Given the description of an element on the screen output the (x, y) to click on. 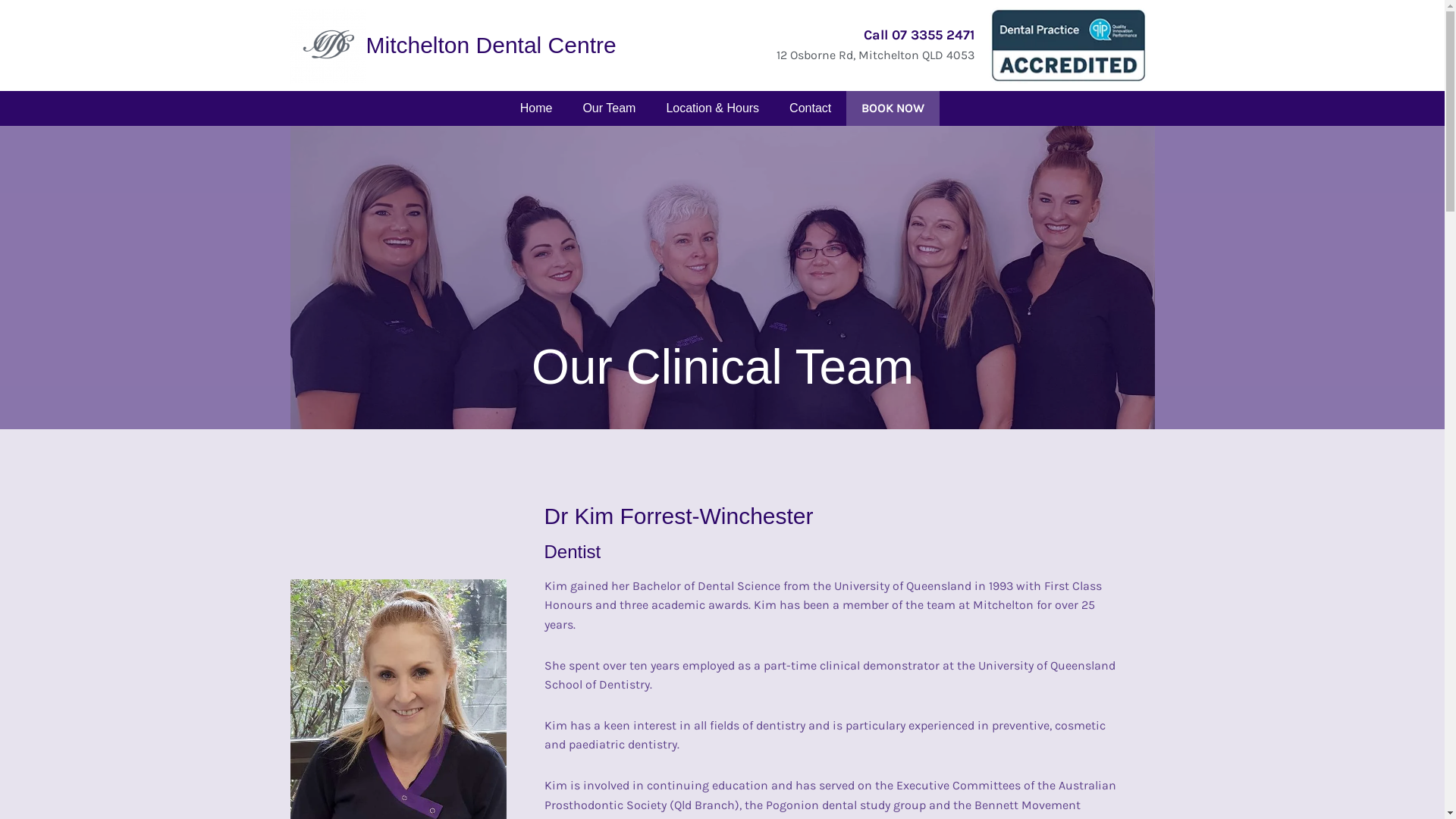
BOOK NOW Element type: text (892, 108)
Location & Hours Element type: text (712, 108)
Our Team Element type: text (608, 108)
Home Element type: text (536, 108)
Call 07 3355 2471 Element type: text (917, 34)
MDC_SiteIcon-Grey Element type: hover (327, 45)
Mitchelton Dental Centre Element type: text (490, 44)
Contact Element type: text (810, 108)
